Given the description of an element on the screen output the (x, y) to click on. 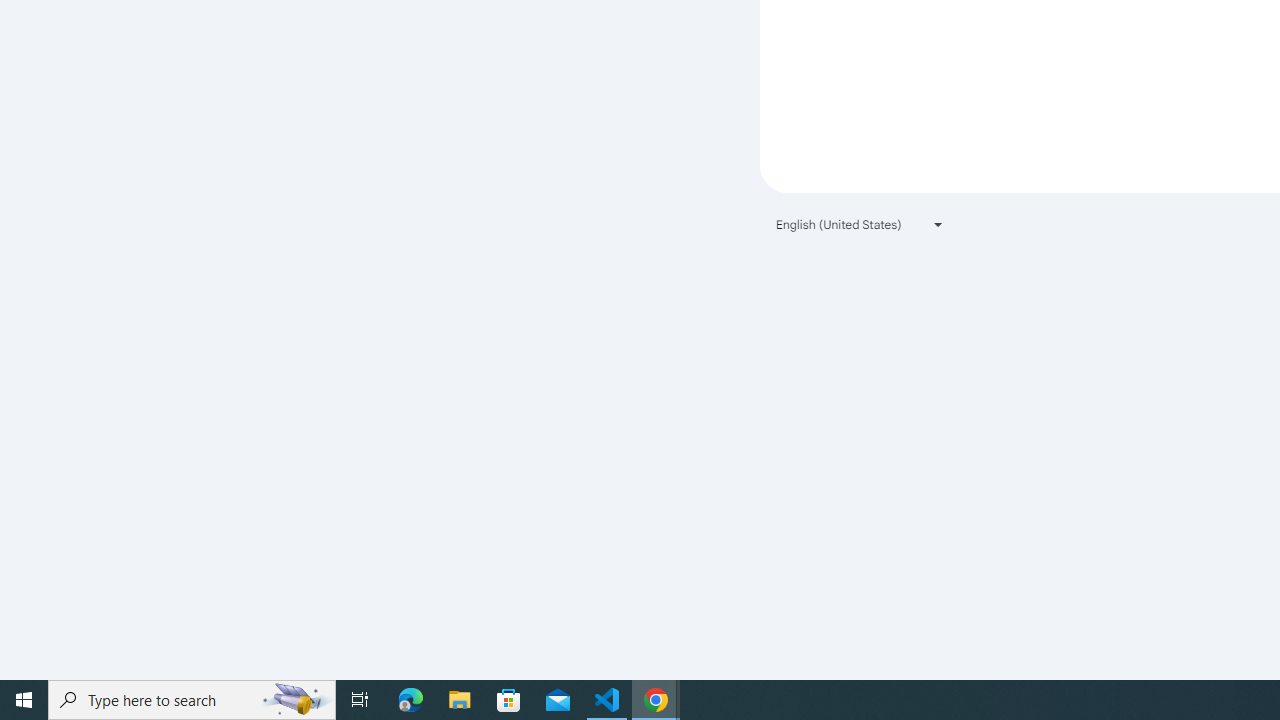
English (United States) (860, 224)
